Given the description of an element on the screen output the (x, y) to click on. 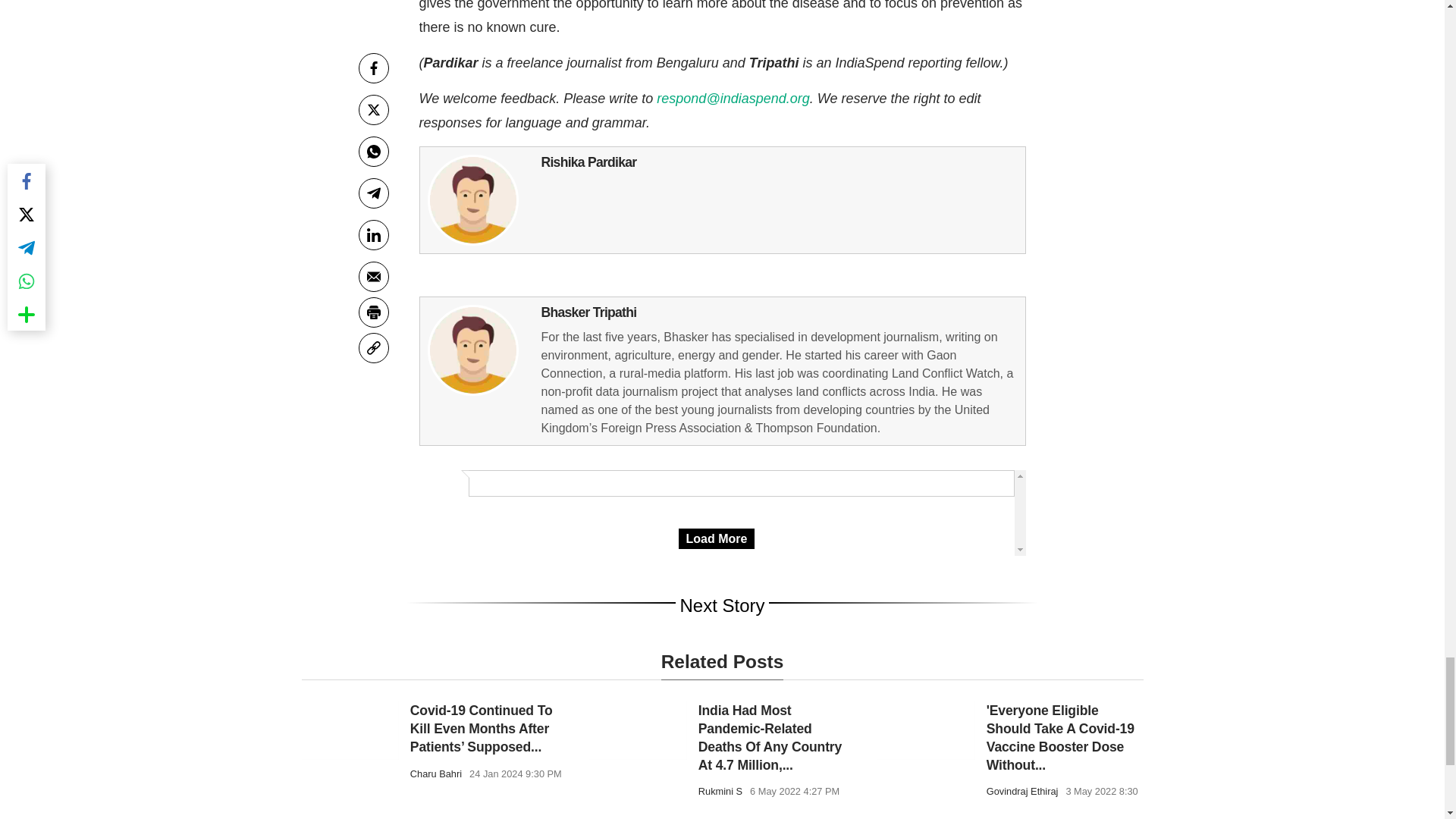
Rishika Pardikar (473, 199)
Bhasker Tripathi (473, 349)
